Given the description of an element on the screen output the (x, y) to click on. 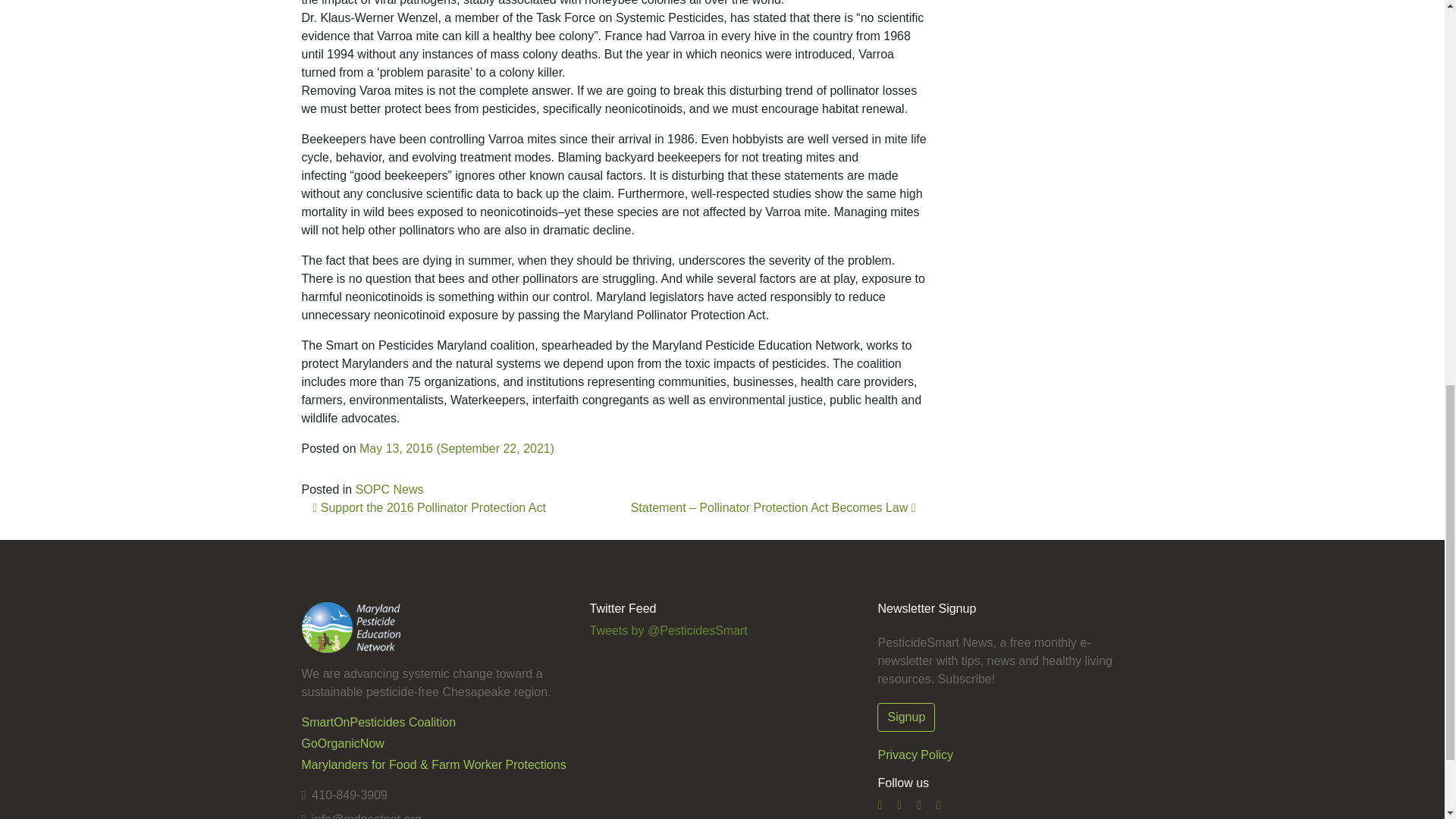
Signup (905, 717)
